Given the description of an element on the screen output the (x, y) to click on. 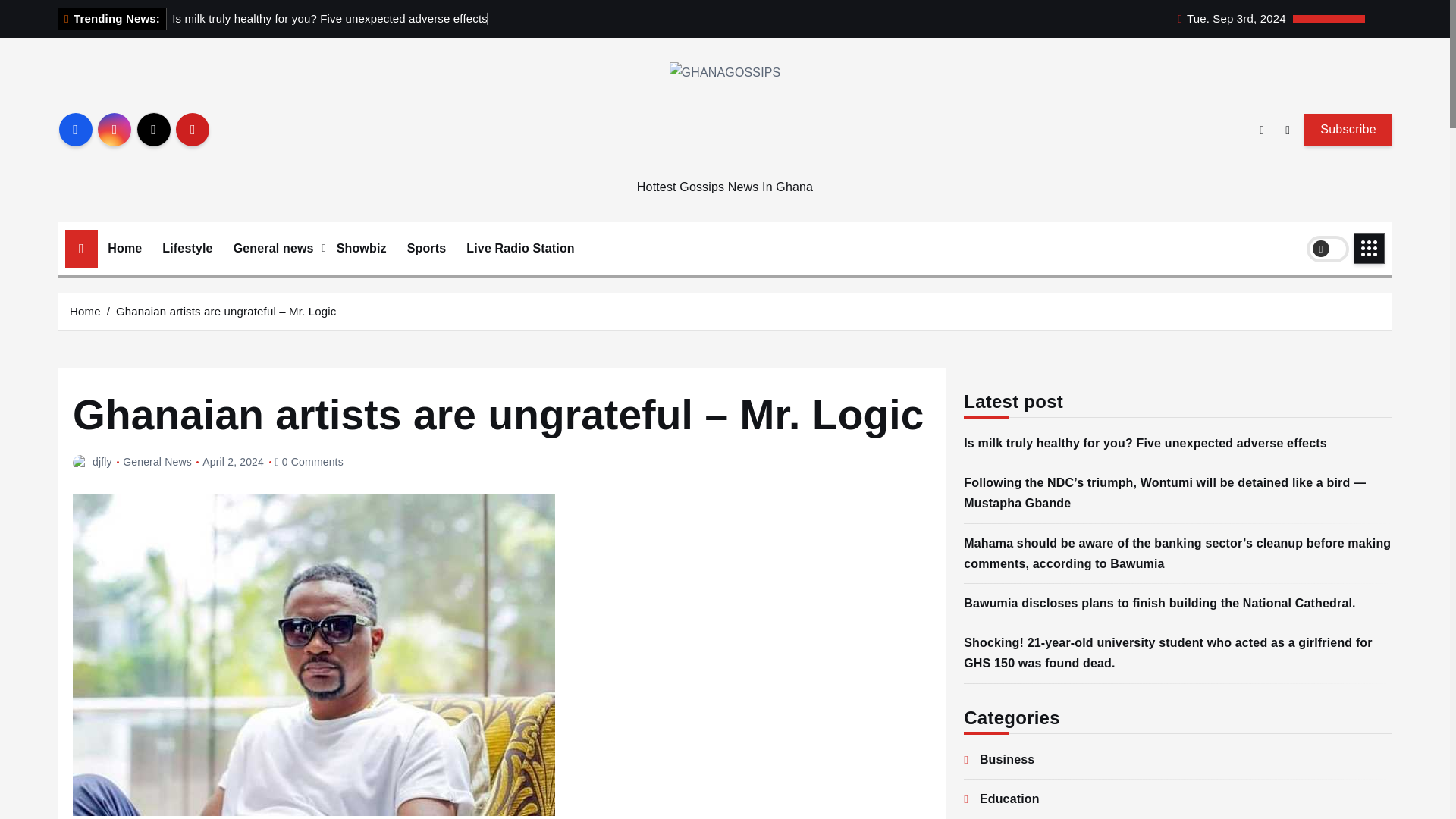
Subscribe (1347, 129)
Showbiz (361, 248)
Lifestyle (187, 248)
Showbiz (361, 248)
General news (275, 248)
General news (275, 248)
Lifestyle (187, 248)
Live Radio Station (520, 248)
Home (124, 248)
Sports (427, 248)
